Given the description of an element on the screen output the (x, y) to click on. 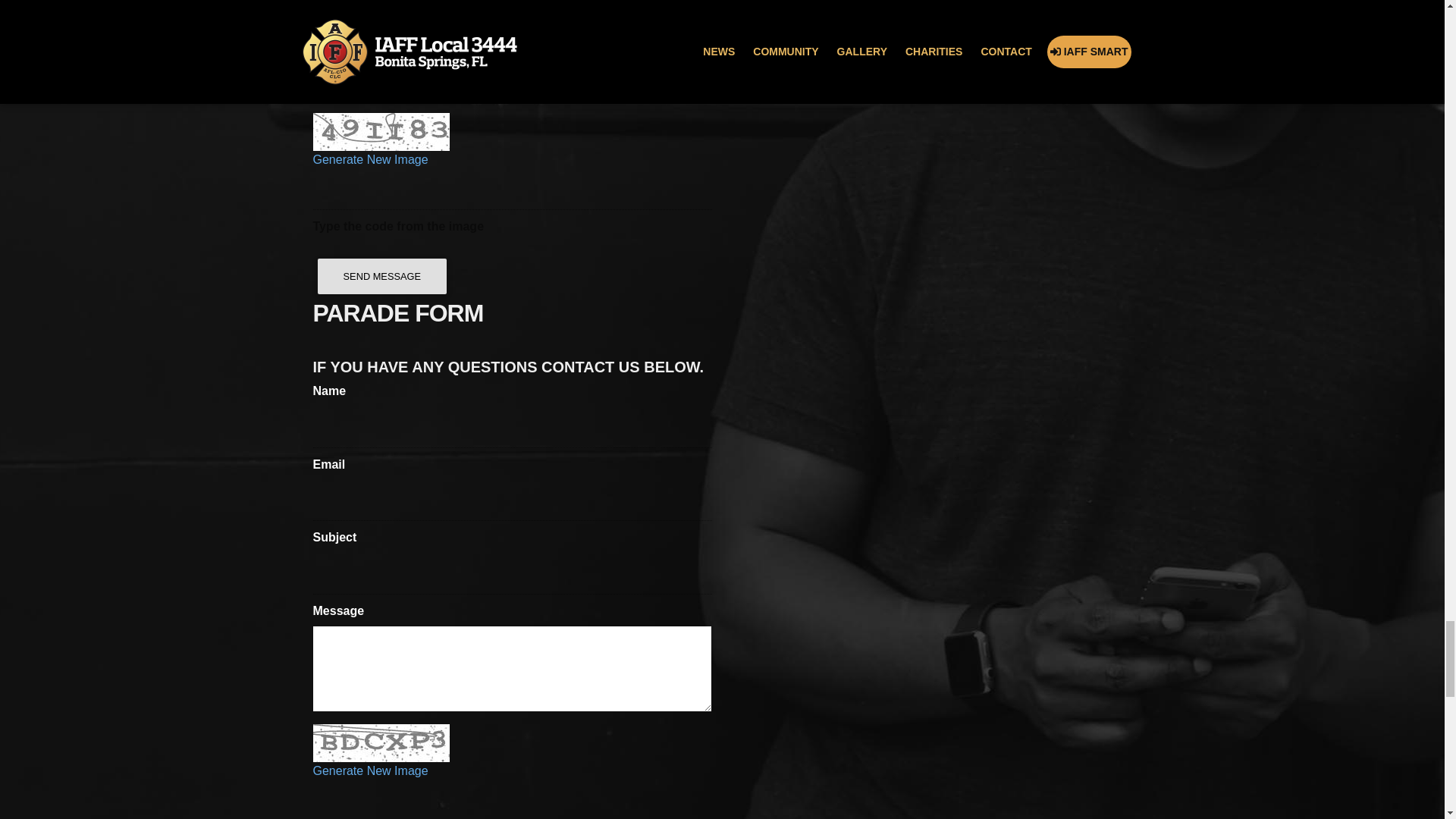
Send Message (381, 275)
